Given the description of an element on the screen output the (x, y) to click on. 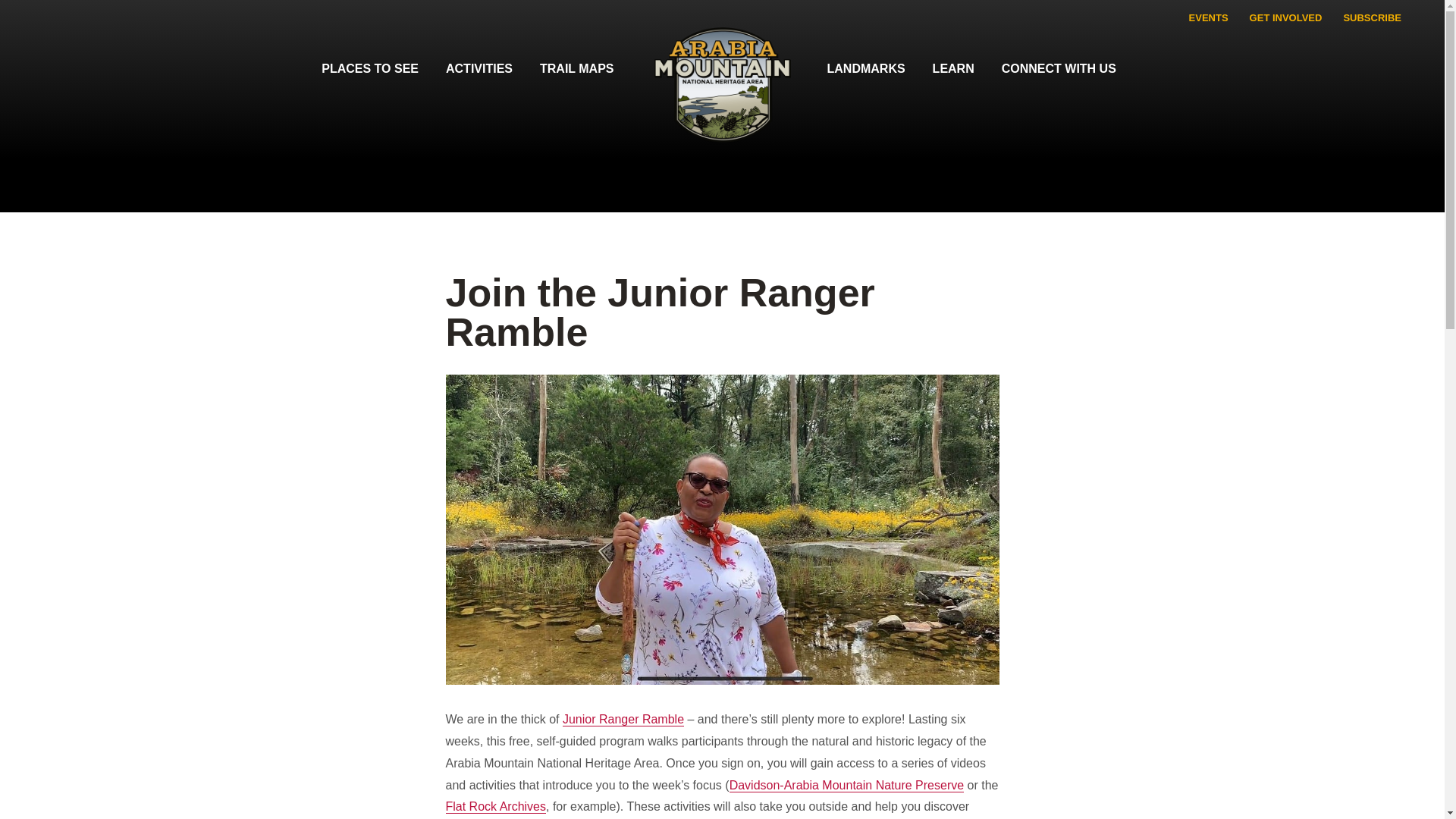
SUBSCRIBE (1372, 17)
ACTIVITIES (478, 68)
GET INVOLVED (1286, 17)
EVENTS (1208, 17)
Arabia Mountain Heritage Area Alliance (721, 95)
SEARCH (1422, 13)
PLACES TO SEE (369, 68)
